Given the description of an element on the screen output the (x, y) to click on. 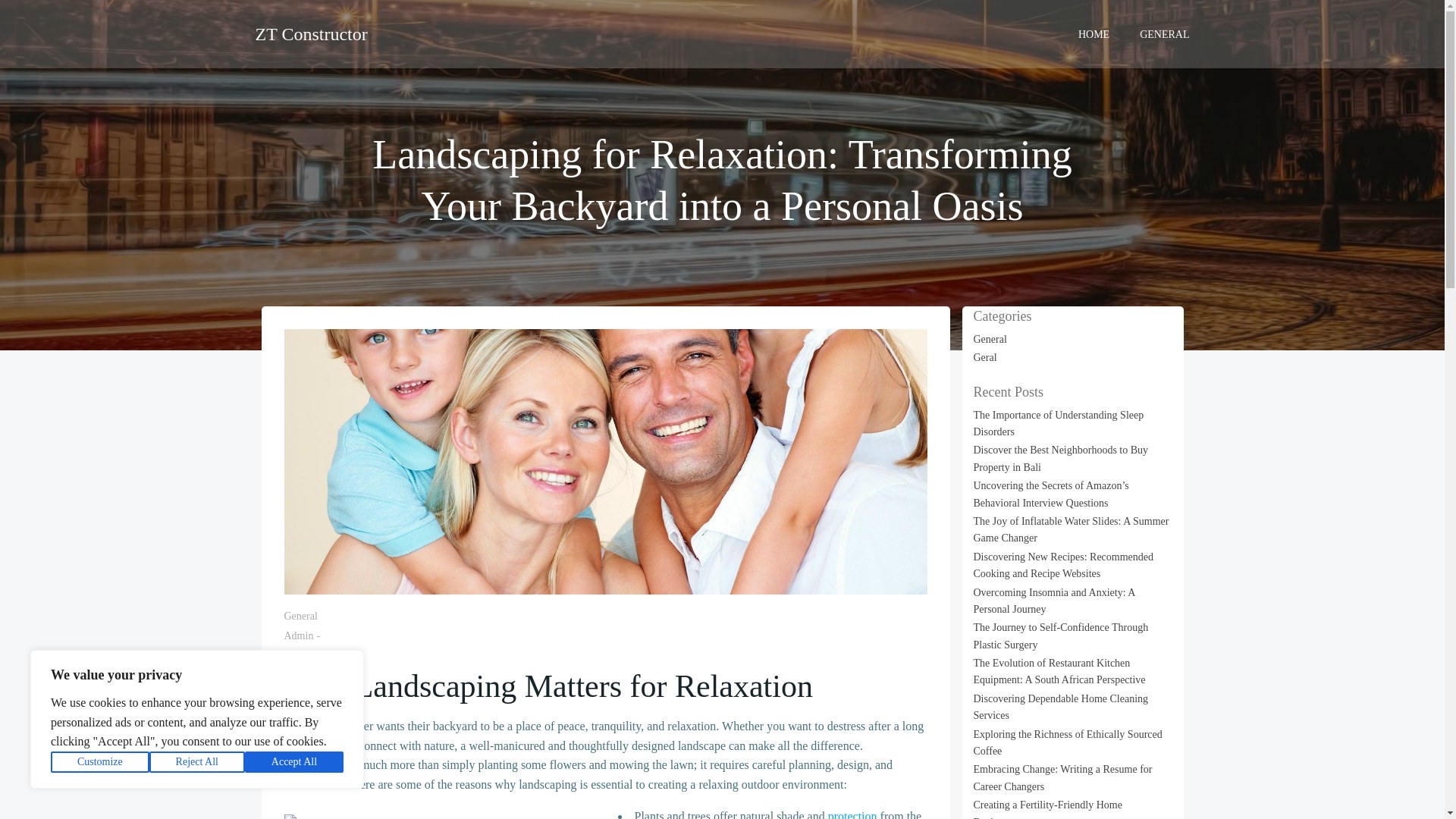
Reject All (196, 762)
The Importance of Understanding Sleep Disorders (1059, 423)
Geral (985, 357)
Customize (99, 762)
Admin (298, 635)
General (990, 338)
GENERAL (1164, 33)
protection (852, 814)
General (300, 616)
HOME (1093, 33)
Discover the Best Neighborhoods to Buy Property in Bali (1061, 458)
Accept All (293, 762)
ZT Constructor (310, 33)
